Given the description of an element on the screen output the (x, y) to click on. 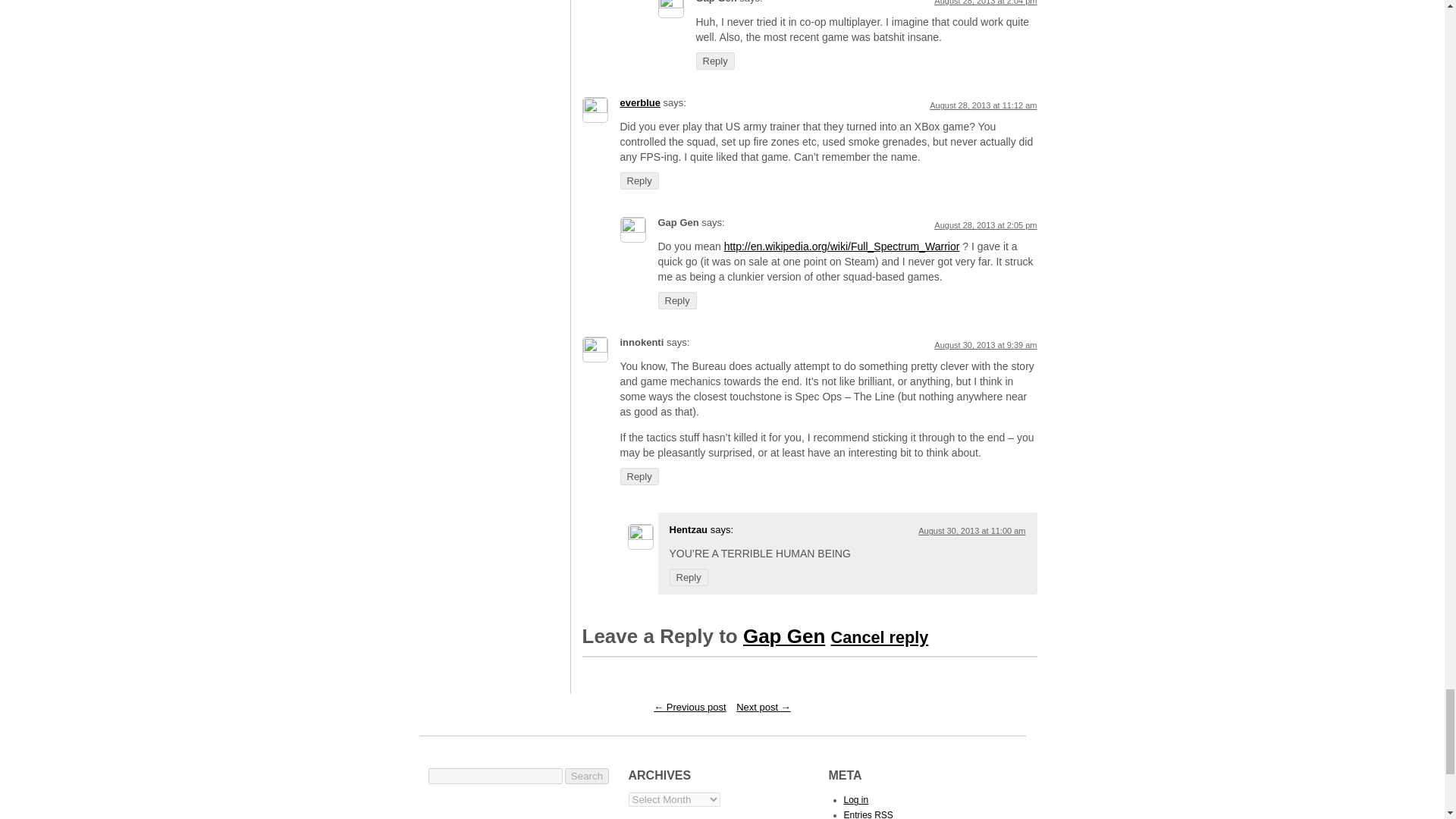
Search (586, 775)
Syndicate this site using RSS 2.0 (867, 814)
Really Simple Syndication (884, 814)
